Given the description of an element on the screen output the (x, y) to click on. 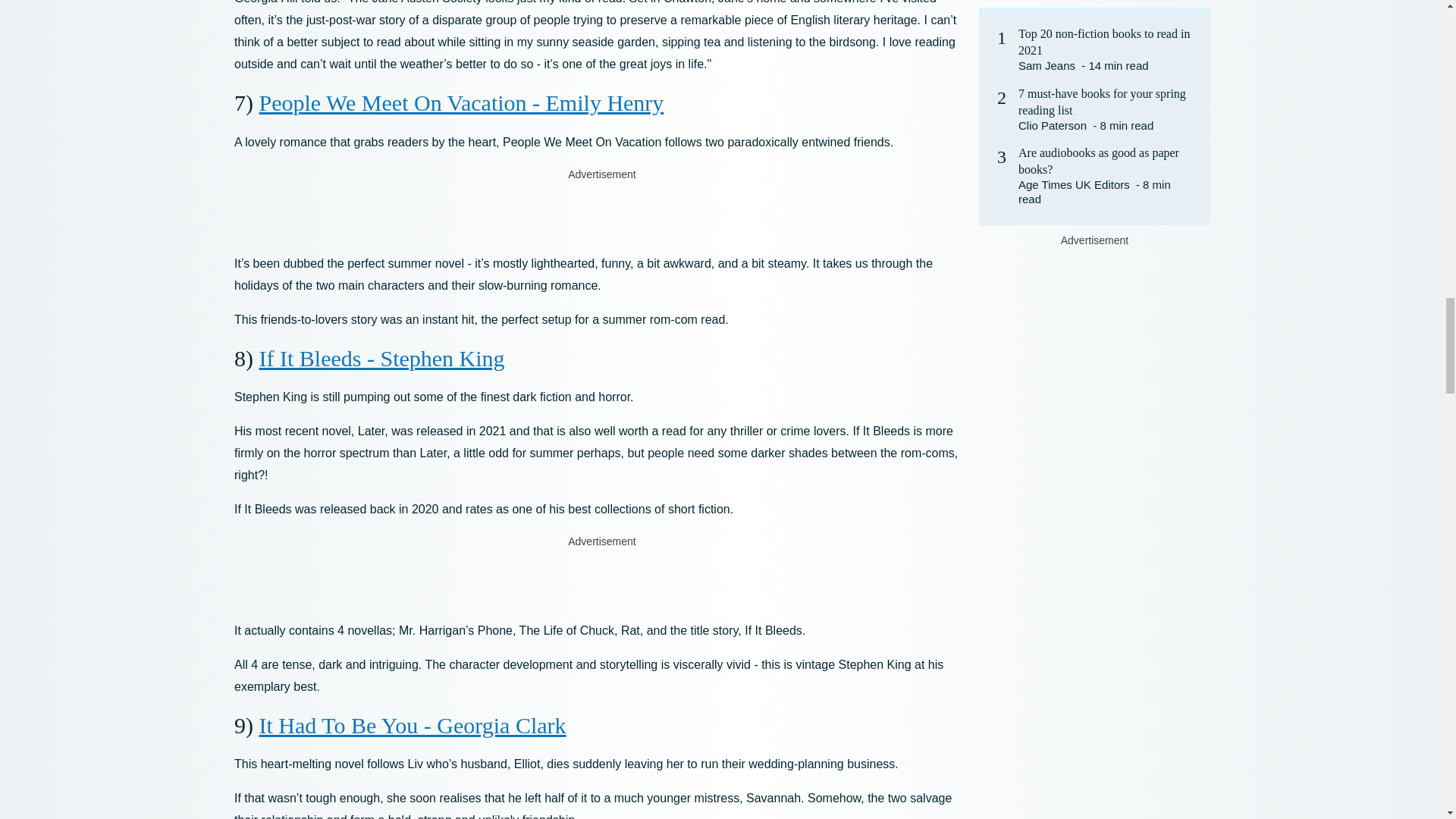
It Had To Be You - Georgia Clark (412, 724)
People We Meet On Vacation - Emily Henry (461, 102)
If It Bleeds - Stephen King (382, 358)
